Given the description of an element on the screen output the (x, y) to click on. 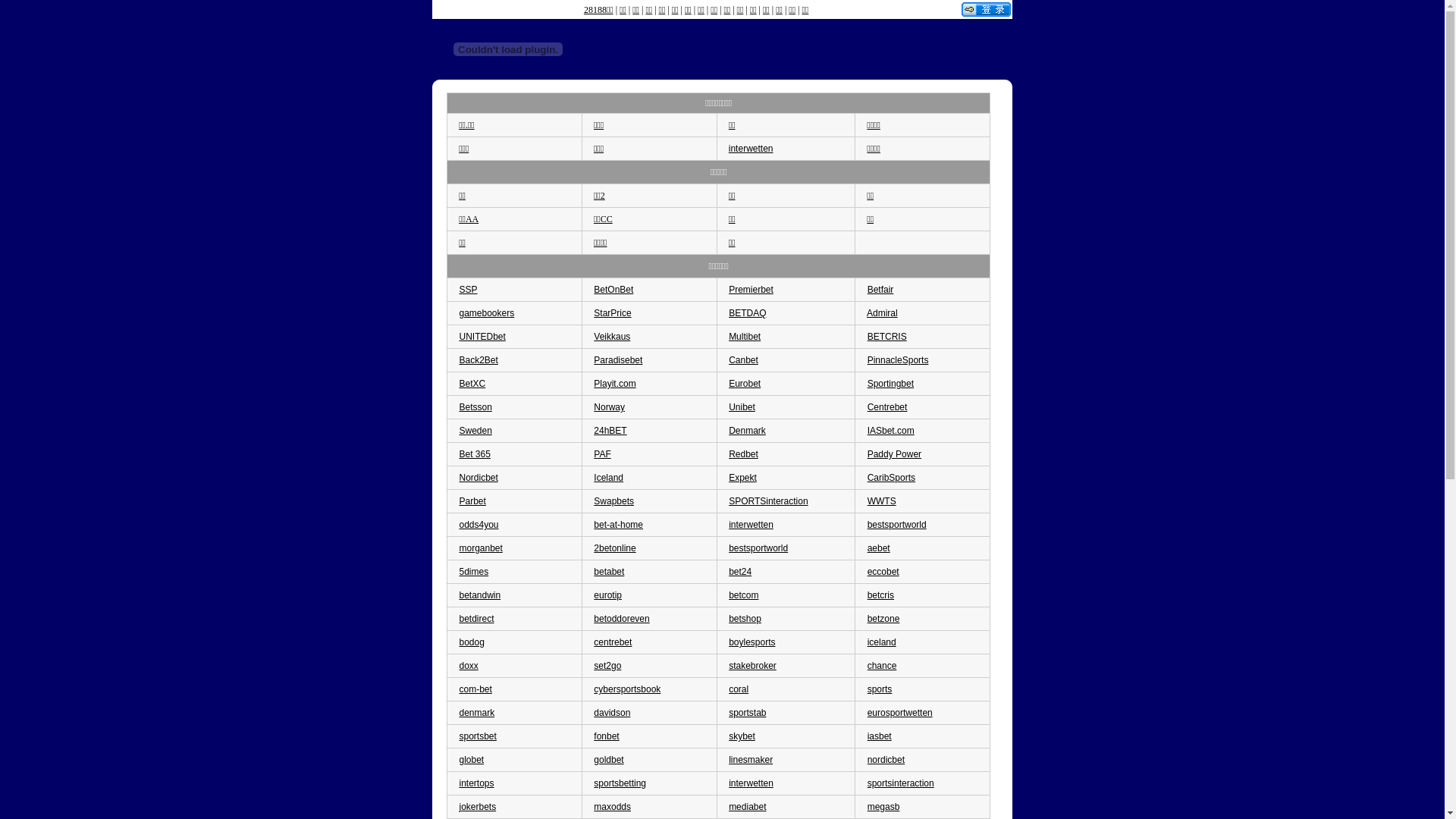
doxx Element type: text (467, 665)
Sweden Element type: text (474, 430)
Bet 365 Element type: text (473, 453)
PAF Element type: text (601, 453)
StarPrice Element type: text (611, 312)
Swapbets Element type: text (613, 500)
betcris Element type: text (880, 594)
mediabet Element type: text (746, 806)
iceland Element type: text (881, 642)
eurosportwetten Element type: text (899, 712)
IASbet.com Element type: text (890, 430)
intertops Element type: text (475, 783)
bodog Element type: text (470, 642)
centrebet Element type: text (612, 642)
linesmaker Element type: text (750, 759)
BETCRIS Element type: text (886, 336)
betshop Element type: text (744, 618)
Back2Bet Element type: text (477, 359)
sportsbet Element type: text (476, 736)
Redbet Element type: text (743, 453)
Paradisebet Element type: text (617, 359)
sports Element type: text (879, 689)
Premierbet Element type: text (750, 289)
Eurobet Element type: text (744, 383)
betcom Element type: text (743, 594)
odds4you Element type: text (478, 524)
Paddy Power Element type: text (894, 453)
WWTS Element type: text (881, 500)
stakebroker Element type: text (752, 665)
bet24 Element type: text (739, 571)
chance Element type: text (882, 665)
bestsportworld Element type: text (757, 547)
2betonline Element type: text (614, 547)
denmark Element type: text (476, 712)
betdirect Element type: text (475, 618)
bestsportworld Element type: text (896, 524)
jokerbets Element type: text (476, 806)
interwetten Element type: text (750, 148)
sportstab Element type: text (746, 712)
Nordicbet Element type: text (477, 477)
sportsbetting Element type: text (619, 783)
Sportingbet Element type: text (890, 383)
bet-at-home Element type: text (618, 524)
interwetten Element type: text (750, 783)
Parbet Element type: text (471, 500)
Multibet Element type: text (744, 336)
boylesports Element type: text (751, 642)
UNITEDbet Element type: text (481, 336)
Denmark Element type: text (746, 430)
maxodds Element type: text (611, 806)
coral Element type: text (738, 689)
fonbet Element type: text (605, 736)
betzone Element type: text (883, 618)
24hBET Element type: text (609, 430)
Norway Element type: text (608, 406)
iasbet Element type: text (879, 736)
SSP Element type: text (467, 289)
cybersportsbook Element type: text (626, 689)
betandwin Element type: text (479, 594)
Betsson Element type: text (474, 406)
CaribSports Element type: text (891, 477)
aebet Element type: text (878, 547)
BetXC Element type: text (471, 383)
globet Element type: text (470, 759)
Playit.com Element type: text (614, 383)
Unibet Element type: text (741, 406)
Canbet Element type: text (743, 359)
set2go Element type: text (607, 665)
goldbet Element type: text (608, 759)
Centrebet Element type: text (887, 406)
PinnacleSports Element type: text (897, 359)
com-bet Element type: text (474, 689)
5dimes Element type: text (473, 571)
Admiral Element type: text (881, 312)
nordicbet Element type: text (885, 759)
betoddoreven Element type: text (621, 618)
eurotip Element type: text (607, 594)
Betfair Element type: text (880, 289)
Veikkaus Element type: text (611, 336)
skybet Element type: text (741, 736)
SPORTSinteraction Element type: text (768, 500)
BETDAQ Element type: text (746, 312)
interwetten Element type: text (750, 524)
davidson Element type: text (611, 712)
morganbet Element type: text (480, 547)
sportsinteraction Element type: text (900, 783)
betabet Element type: text (608, 571)
gamebookers Element type: text (486, 312)
Expekt Element type: text (742, 477)
BetOnBet Element type: text (613, 289)
megasb Element type: text (883, 806)
Iceland Element type: text (608, 477)
eccobet Element type: text (883, 571)
